Given the description of an element on the screen output the (x, y) to click on. 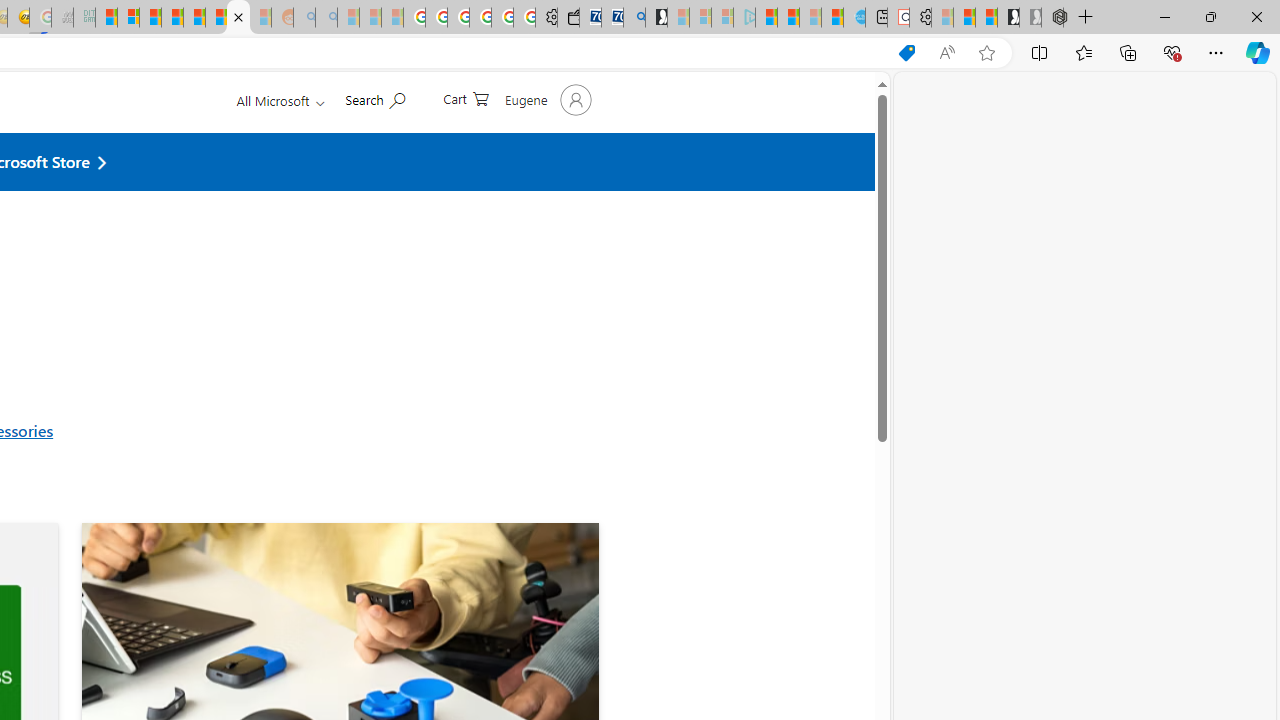
0 items in shopping cart (465, 144)
Bing Real Estate - Home sales and rental listings (634, 17)
